Given the description of an element on the screen output the (x, y) to click on. 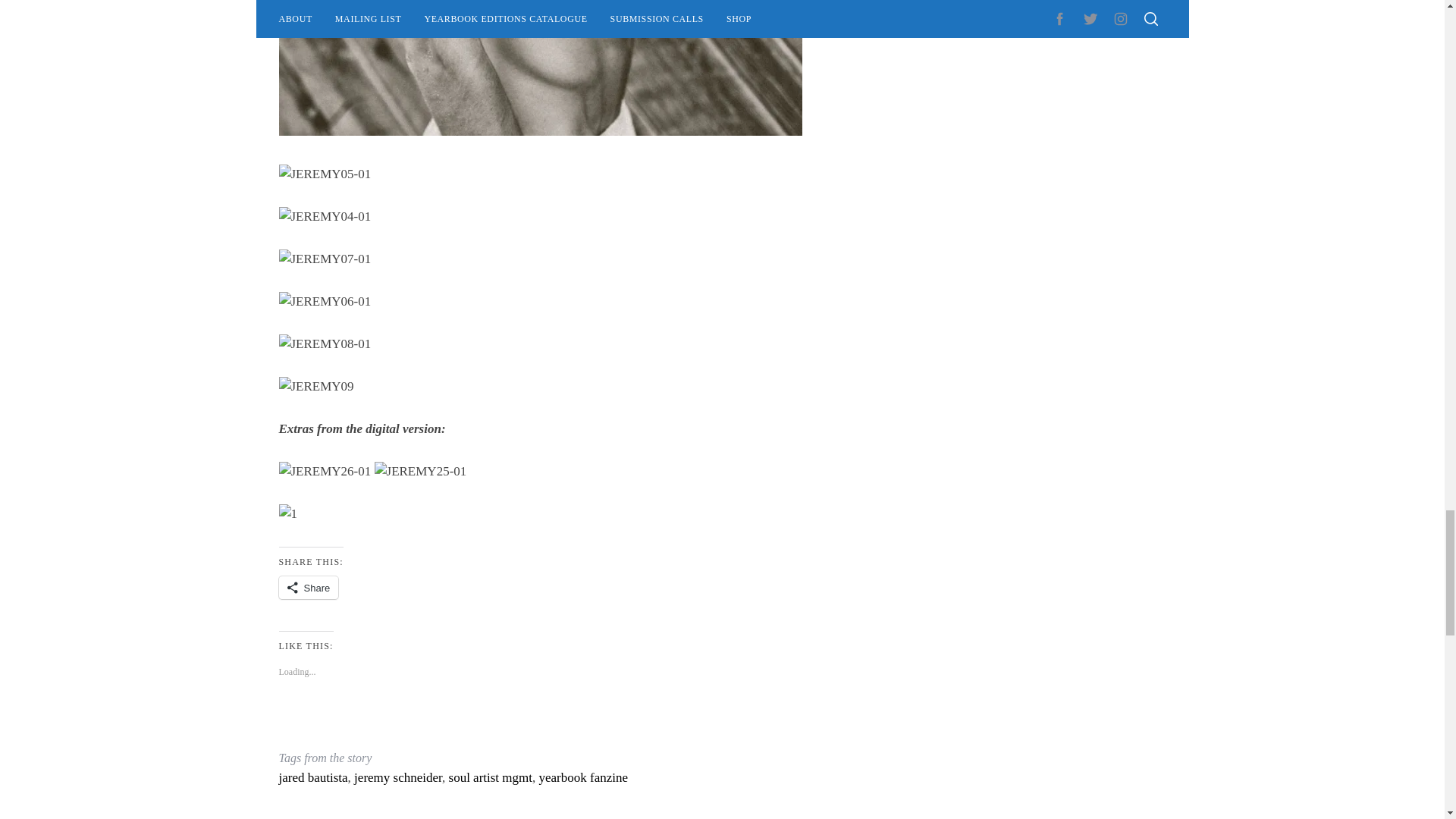
soul artist mgmt (490, 777)
jared bautista (313, 777)
Share (309, 587)
yearbook fanzine (583, 777)
jeremy schneider (397, 777)
